Given the description of an element on the screen output the (x, y) to click on. 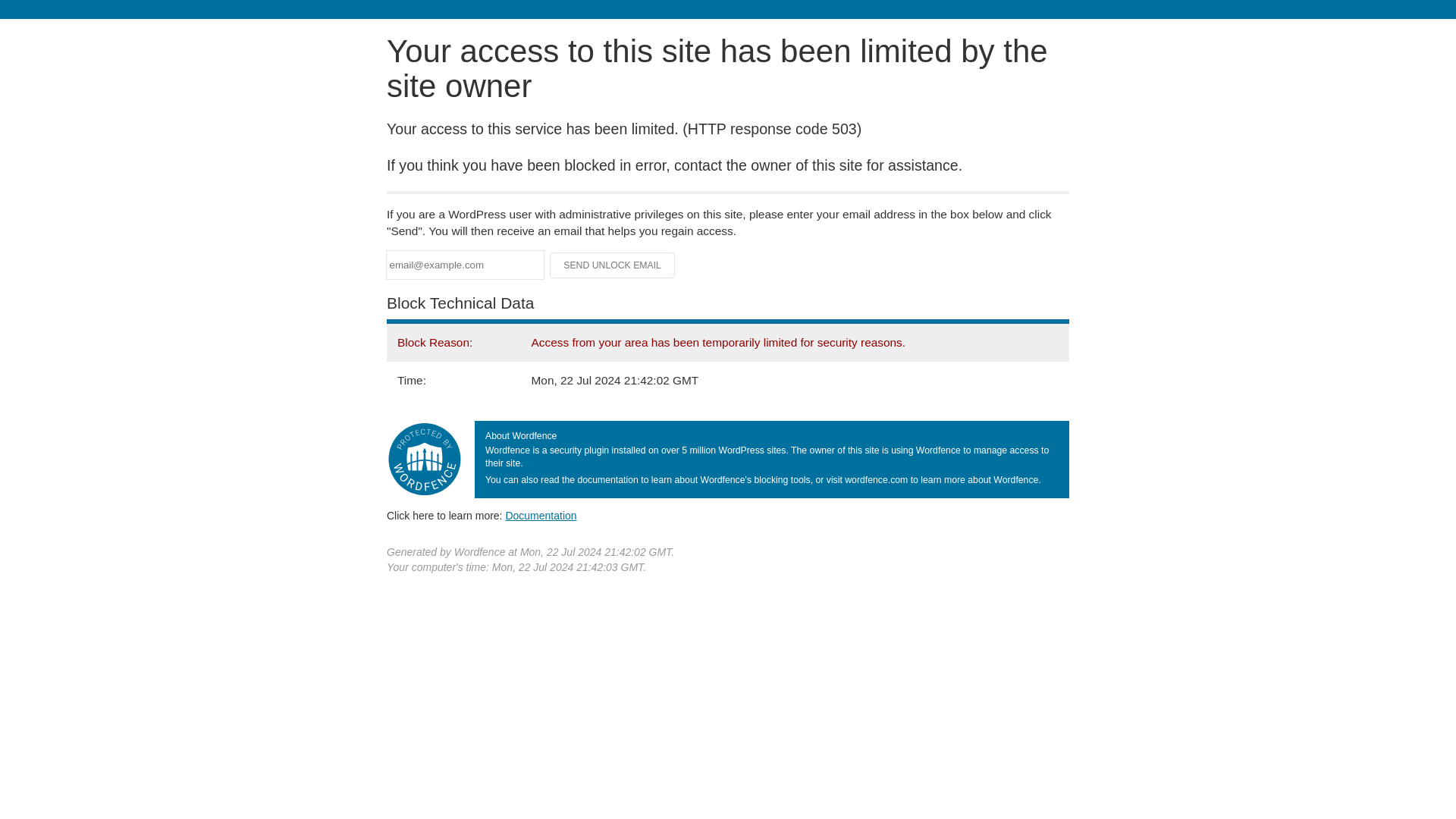
Documentation (540, 515)
Send Unlock Email (612, 265)
Send Unlock Email (612, 265)
